Given the description of an element on the screen output the (x, y) to click on. 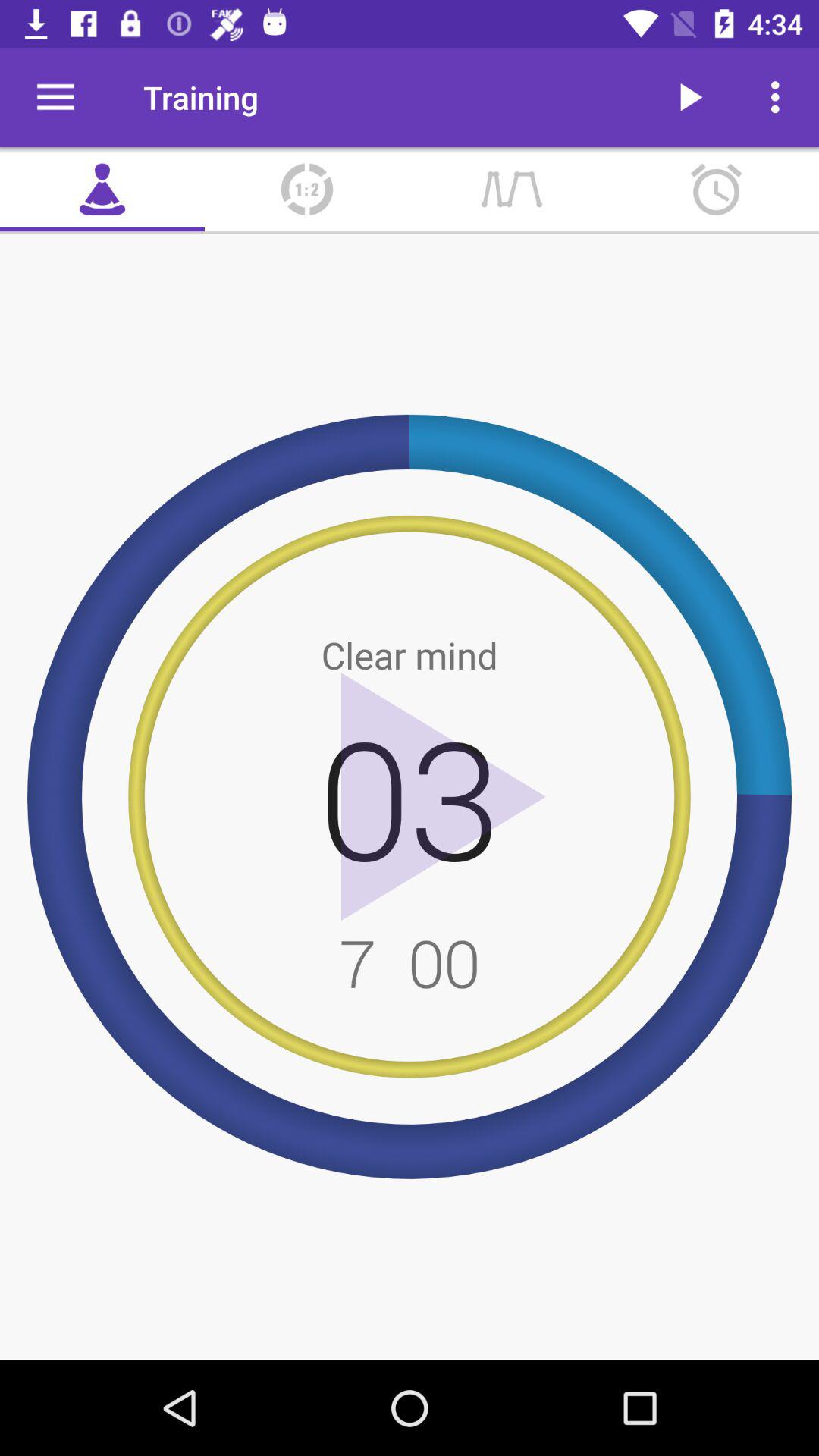
turn off item below training item (306, 189)
